Given the description of an element on the screen output the (x, y) to click on. 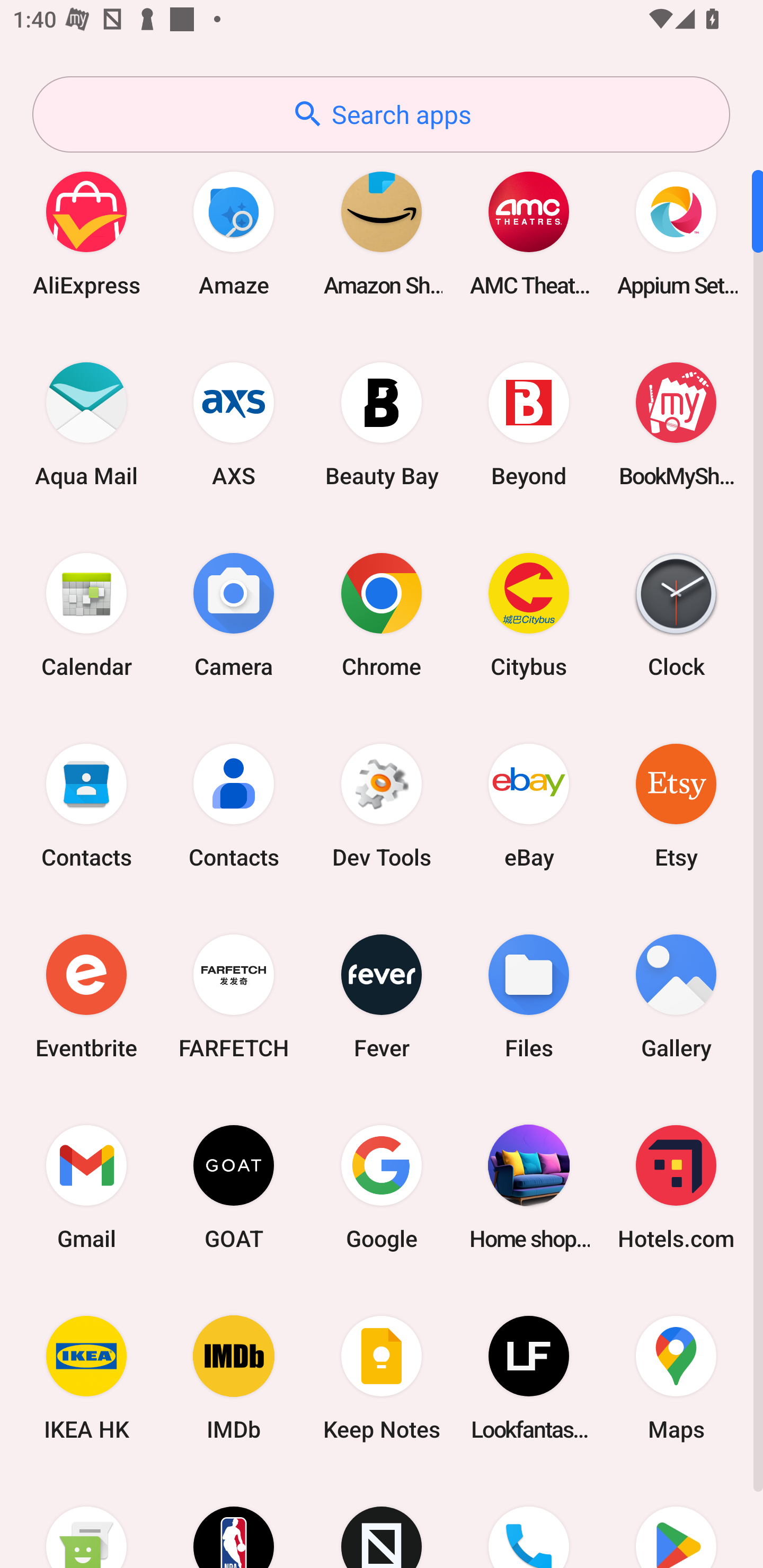
  Search apps (381, 114)
AliExpress (86, 233)
Amaze (233, 233)
Amazon Shopping (381, 233)
AMC Theatres (528, 233)
Appium Settings (676, 233)
Aqua Mail (86, 424)
AXS (233, 424)
Beauty Bay (381, 424)
Beyond (528, 424)
BookMyShow (676, 424)
Calendar (86, 614)
Camera (233, 614)
Chrome (381, 614)
Citybus (528, 614)
Clock (676, 614)
Contacts (86, 805)
Contacts (233, 805)
Dev Tools (381, 805)
eBay (528, 805)
Etsy (676, 805)
Eventbrite (86, 996)
FARFETCH (233, 996)
Fever (381, 996)
Files (528, 996)
Gallery (676, 996)
Gmail (86, 1186)
GOAT (233, 1186)
Google (381, 1186)
Home shopping (528, 1186)
Hotels.com (676, 1186)
IKEA HK (86, 1377)
IMDb (233, 1377)
Keep Notes (381, 1377)
Lookfantastic (528, 1377)
Maps (676, 1377)
Messaging (86, 1520)
NBA (233, 1520)
Novelship (381, 1520)
Phone (528, 1520)
Play Store (676, 1520)
